Given the description of an element on the screen output the (x, y) to click on. 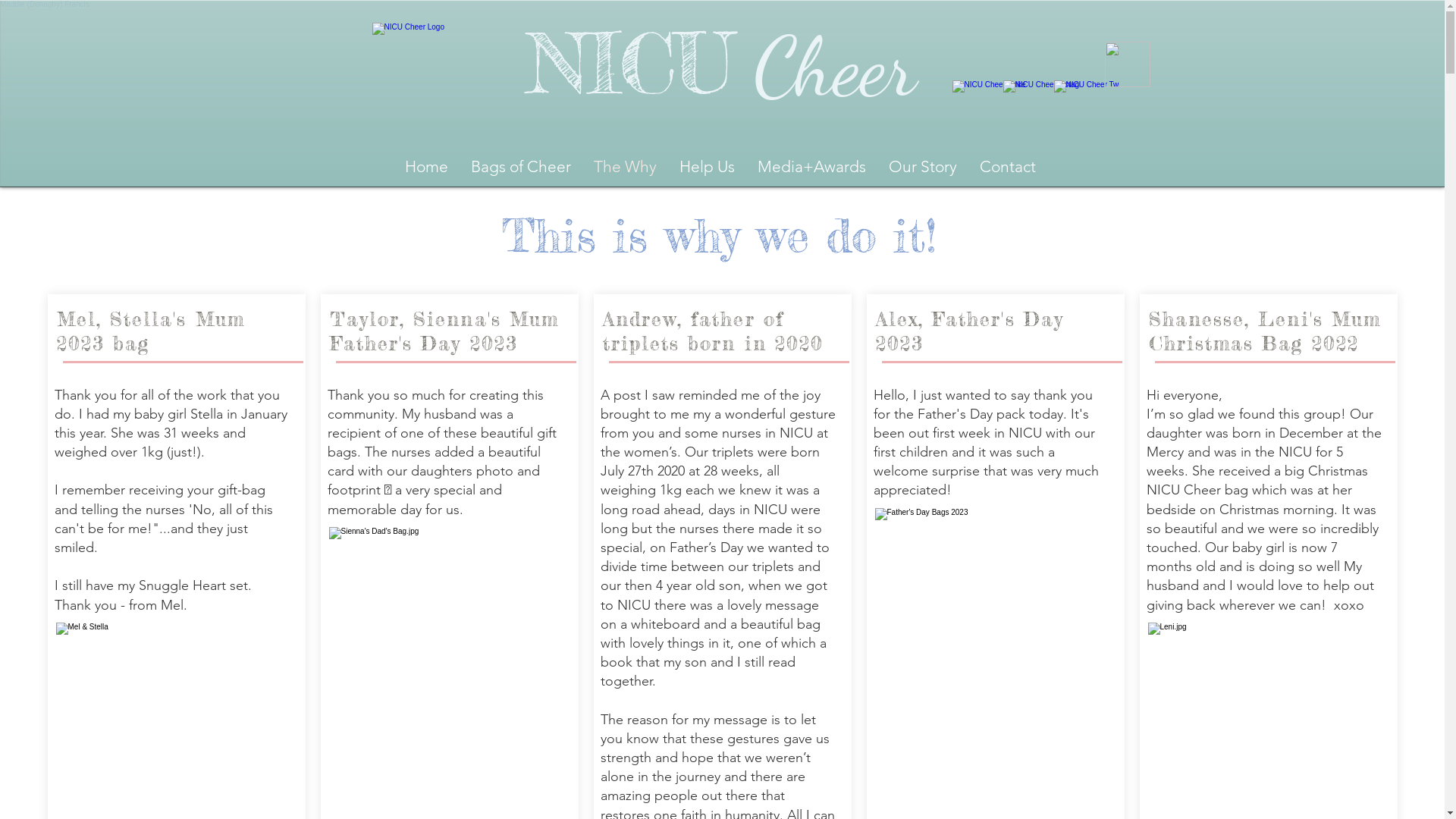
NICU Element type: text (629, 62)
The Why Element type: text (625, 166)
Contact Element type: text (1007, 166)
Home Element type: text (426, 166)
Cheer Element type: text (824, 67)
Maddie (Donaghy) Francis Element type: text (44, 4)
Our Story Element type: text (922, 166)
Help Us Element type: text (707, 166)
Media+Awards Element type: text (811, 166)
Bags of Cheer Element type: text (520, 166)
